Given the description of an element on the screen output the (x, y) to click on. 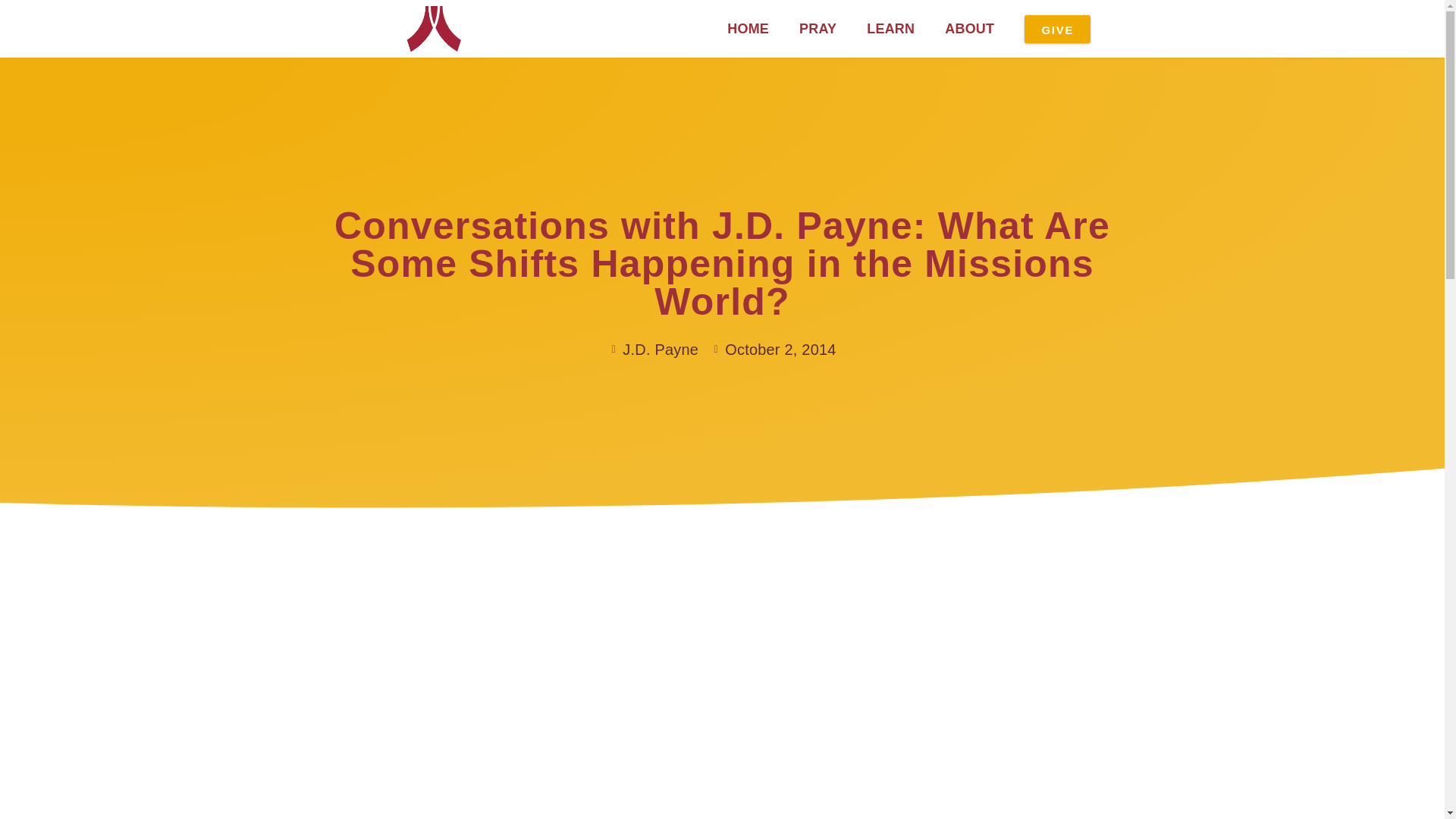
LEARN (890, 28)
HOME (747, 28)
ABOUT (969, 28)
PRAY (817, 28)
